Given the description of an element on the screen output the (x, y) to click on. 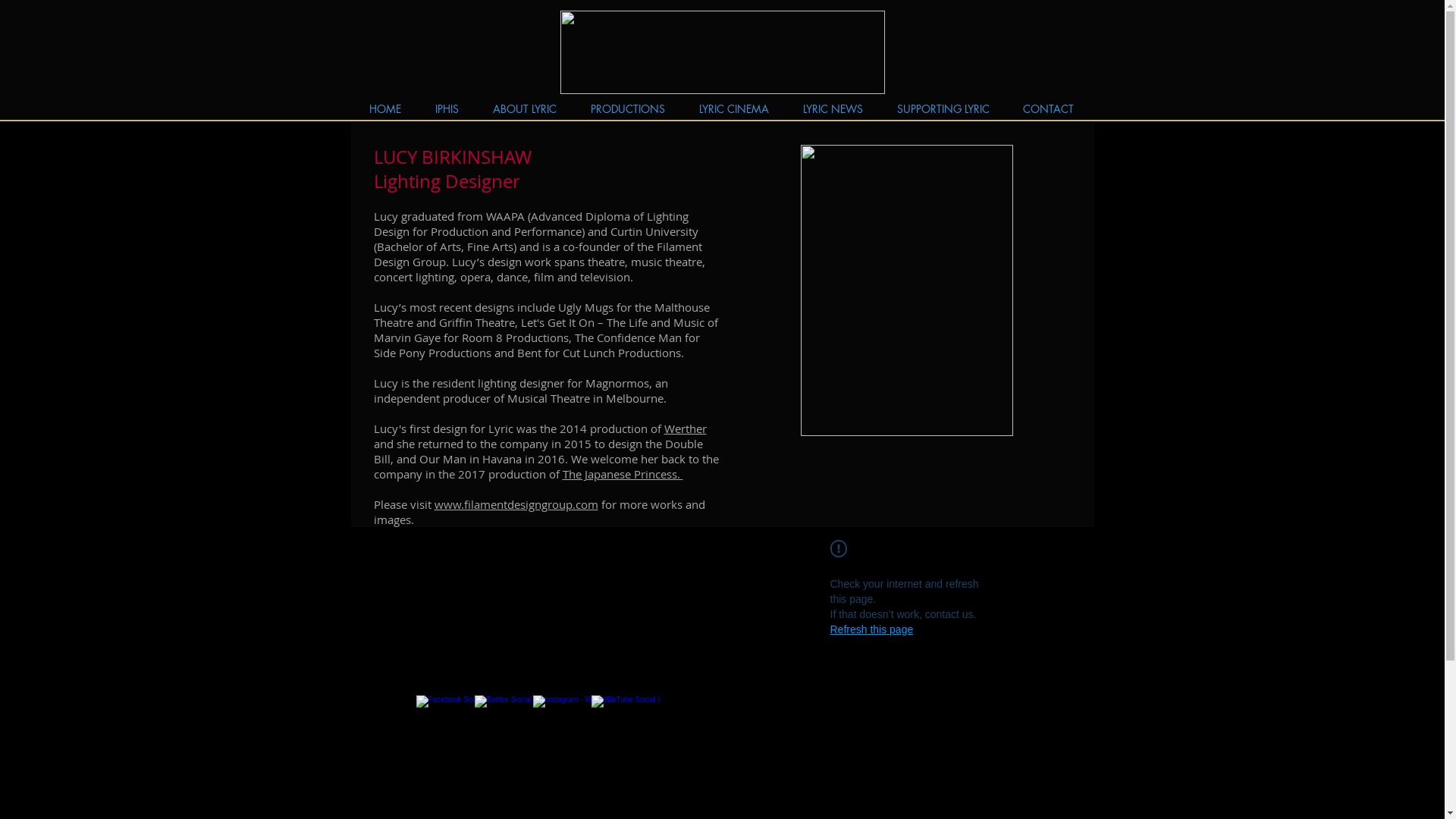
PRODUCTIONS Element type: text (627, 108)
www.filamentdesigngroup.com Element type: text (515, 503)
IPHIS Element type: text (447, 108)
SUPPORTING LYRIC Element type: text (942, 108)
ABOUT LYRIC Element type: text (525, 108)
The Japanese Princess.  Element type: text (622, 473)
Refresh this page Element type: text (871, 629)
LYRIC NEWS Element type: text (832, 108)
LYRIC CINEMA Element type: text (734, 108)
CONTACT Element type: text (1047, 108)
Werther Element type: text (685, 428)
HOME Element type: text (384, 108)
